Given the description of an element on the screen output the (x, y) to click on. 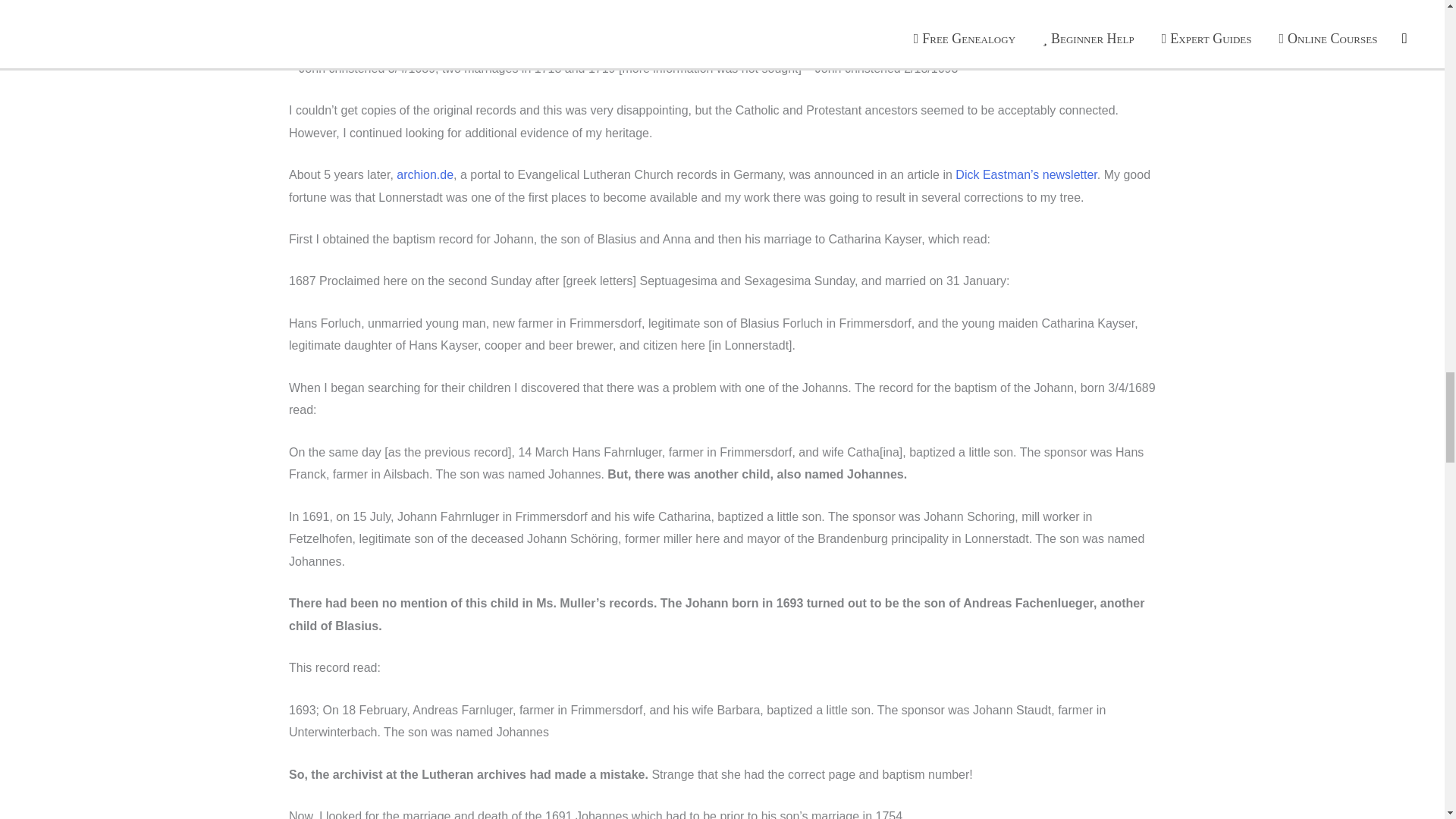
archion.de (424, 174)
